Given the description of an element on the screen output the (x, y) to click on. 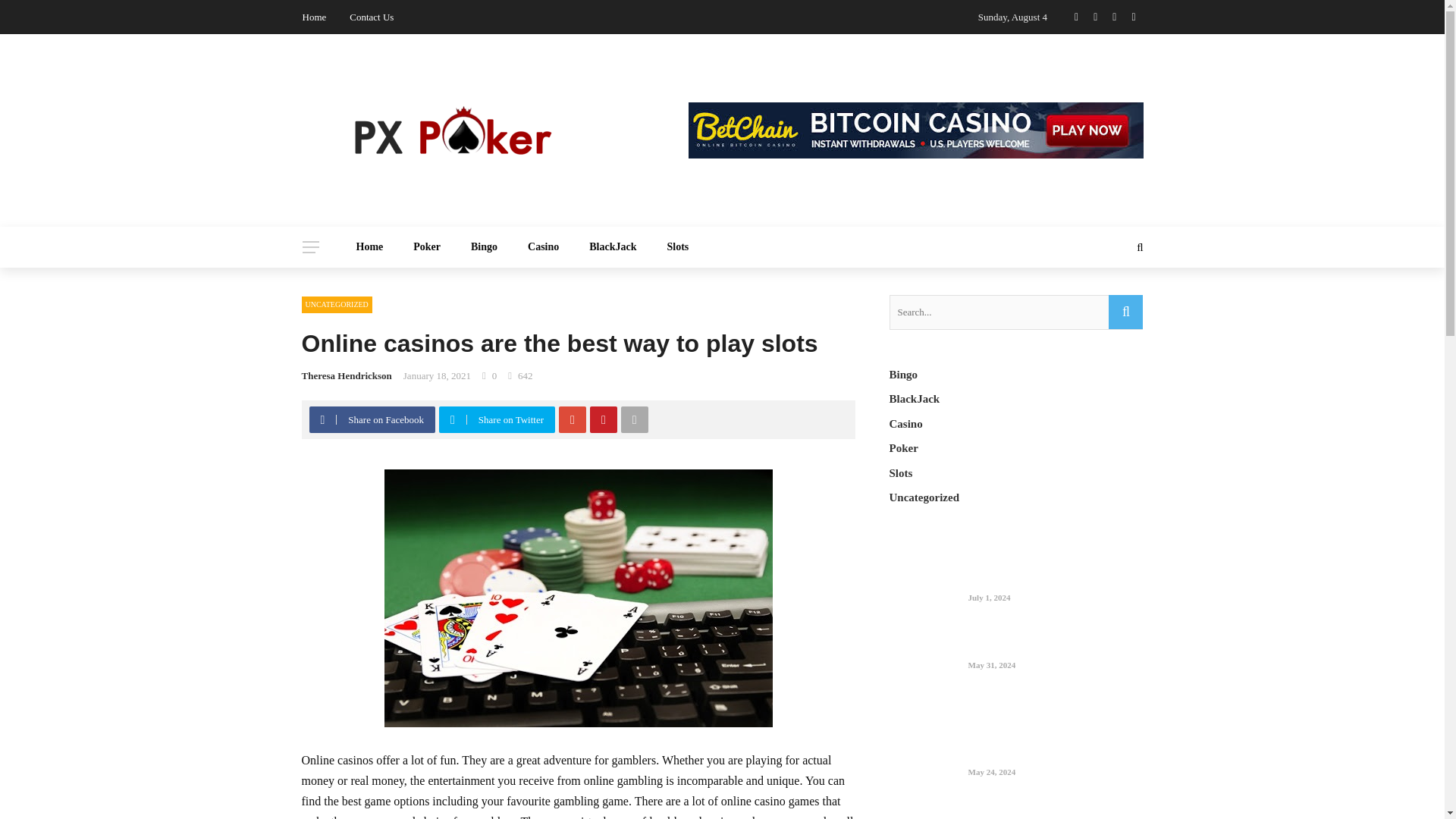
Home (369, 246)
Theresa Hendrickson (346, 375)
Poker (426, 246)
Slots (678, 246)
Contact Us (371, 16)
Casino (542, 246)
Share on Twitter (499, 419)
UNCATEGORIZED (336, 304)
Home (313, 16)
BlackJack (611, 246)
Bingo (483, 246)
Share on Facebook (373, 419)
